Given the description of an element on the screen output the (x, y) to click on. 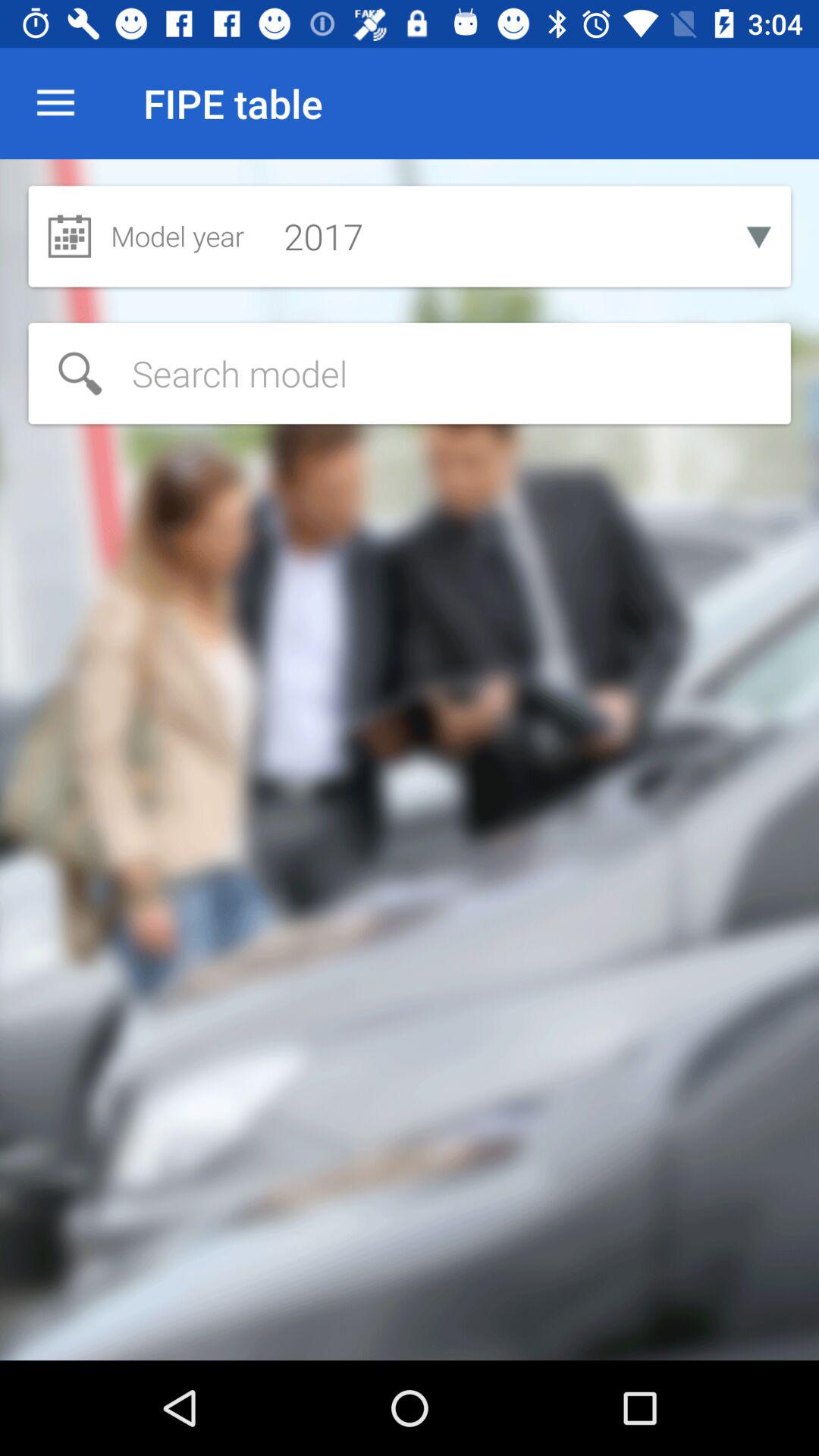
search bar (409, 373)
